Given the description of an element on the screen output the (x, y) to click on. 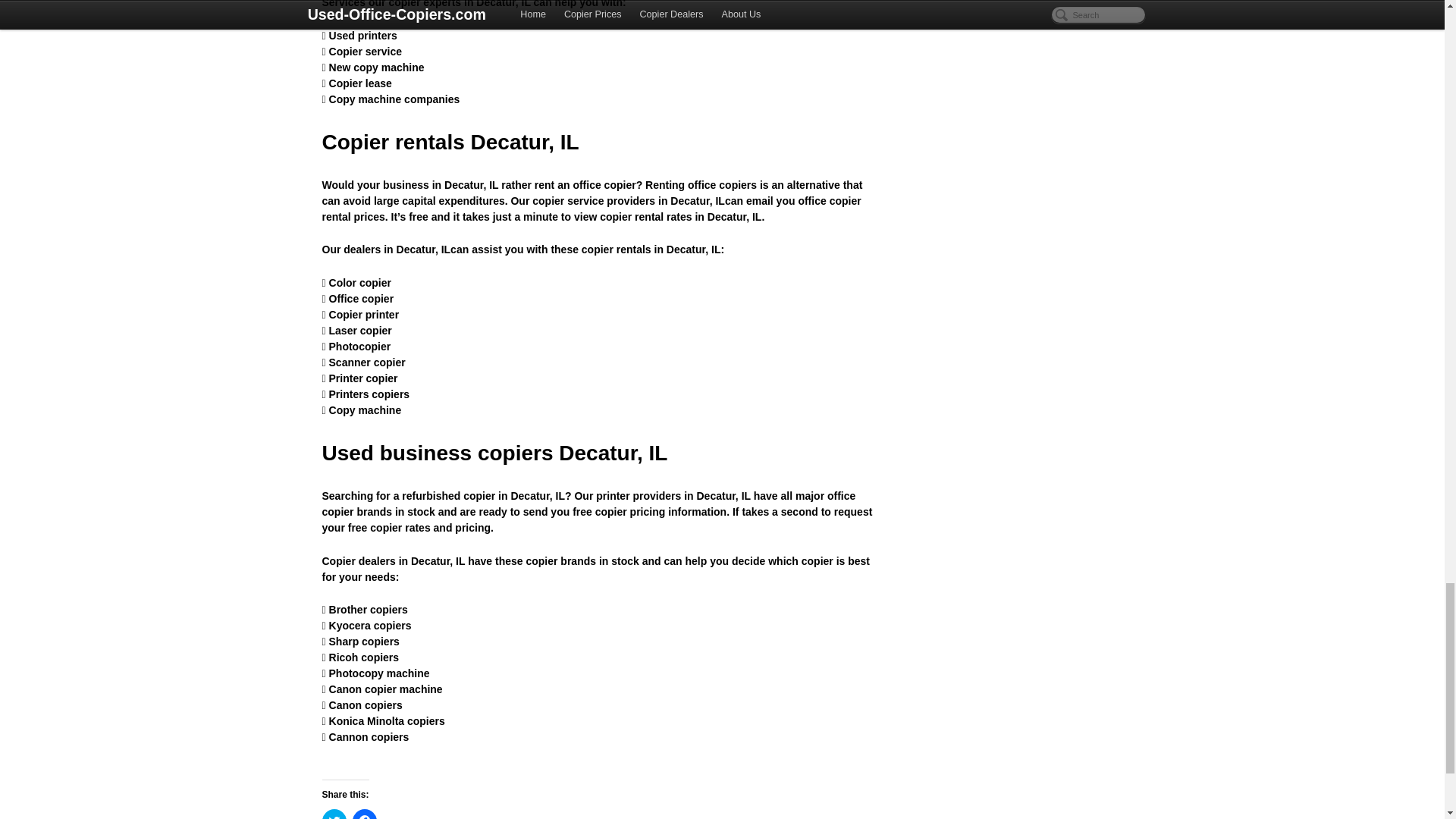
Click to share on Twitter (333, 814)
Click to share on Facebook (363, 814)
